Given the description of an element on the screen output the (x, y) to click on. 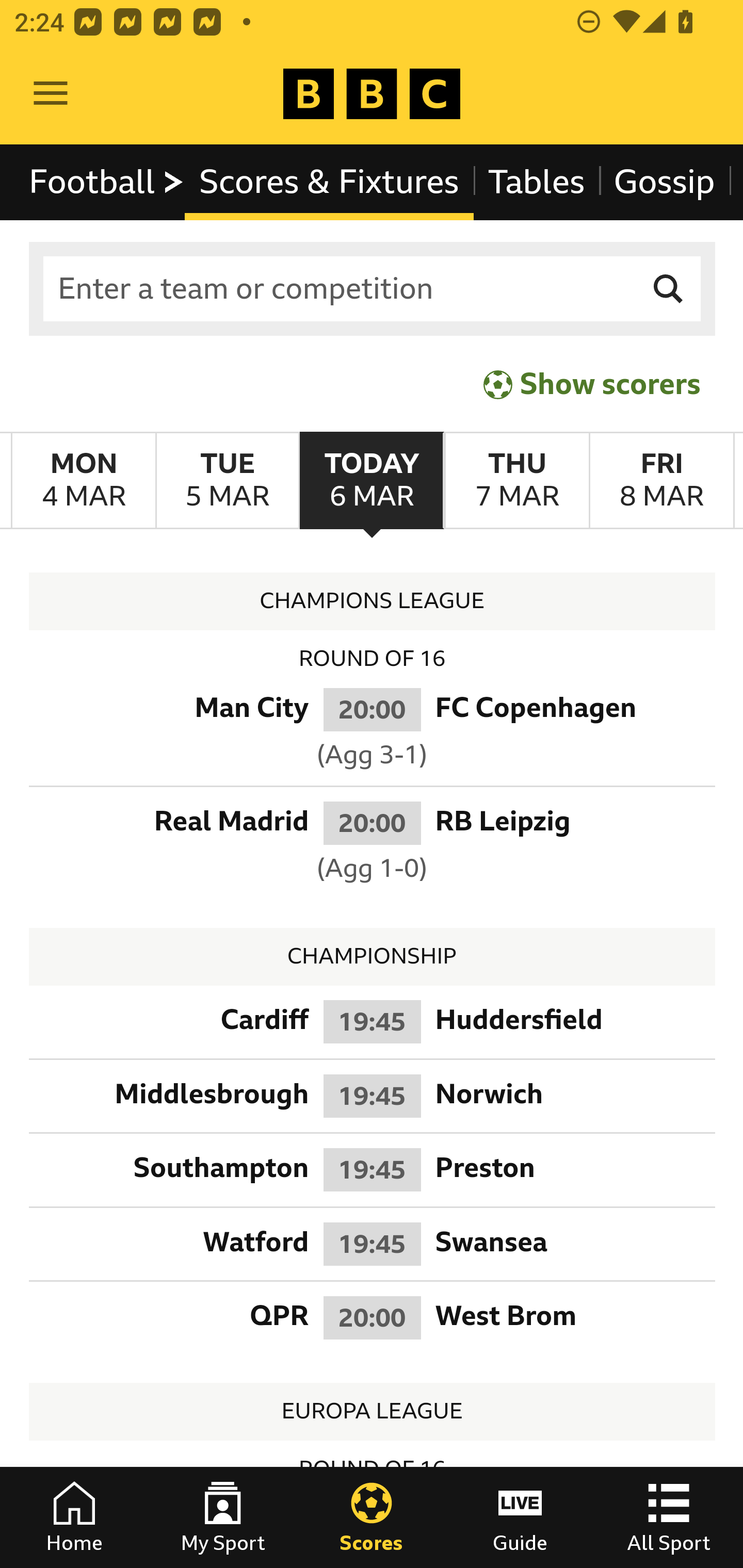
Open Menu (50, 93)
Football  (106, 181)
Scores & Fixtures (329, 181)
Tables (536, 181)
Gossip (664, 181)
Search (669, 289)
Show scorers (591, 383)
MondayMarch 4th Monday March 4th (83, 480)
TuesdayMarch 5th Tuesday March 5th (227, 480)
ThursdayMarch 7th Thursday March 7th (516, 480)
FridayMarch 8th Friday March 8th (661, 480)
Home (74, 1517)
My Sport (222, 1517)
Guide (519, 1517)
All Sport (668, 1517)
